Given the description of an element on the screen output the (x, y) to click on. 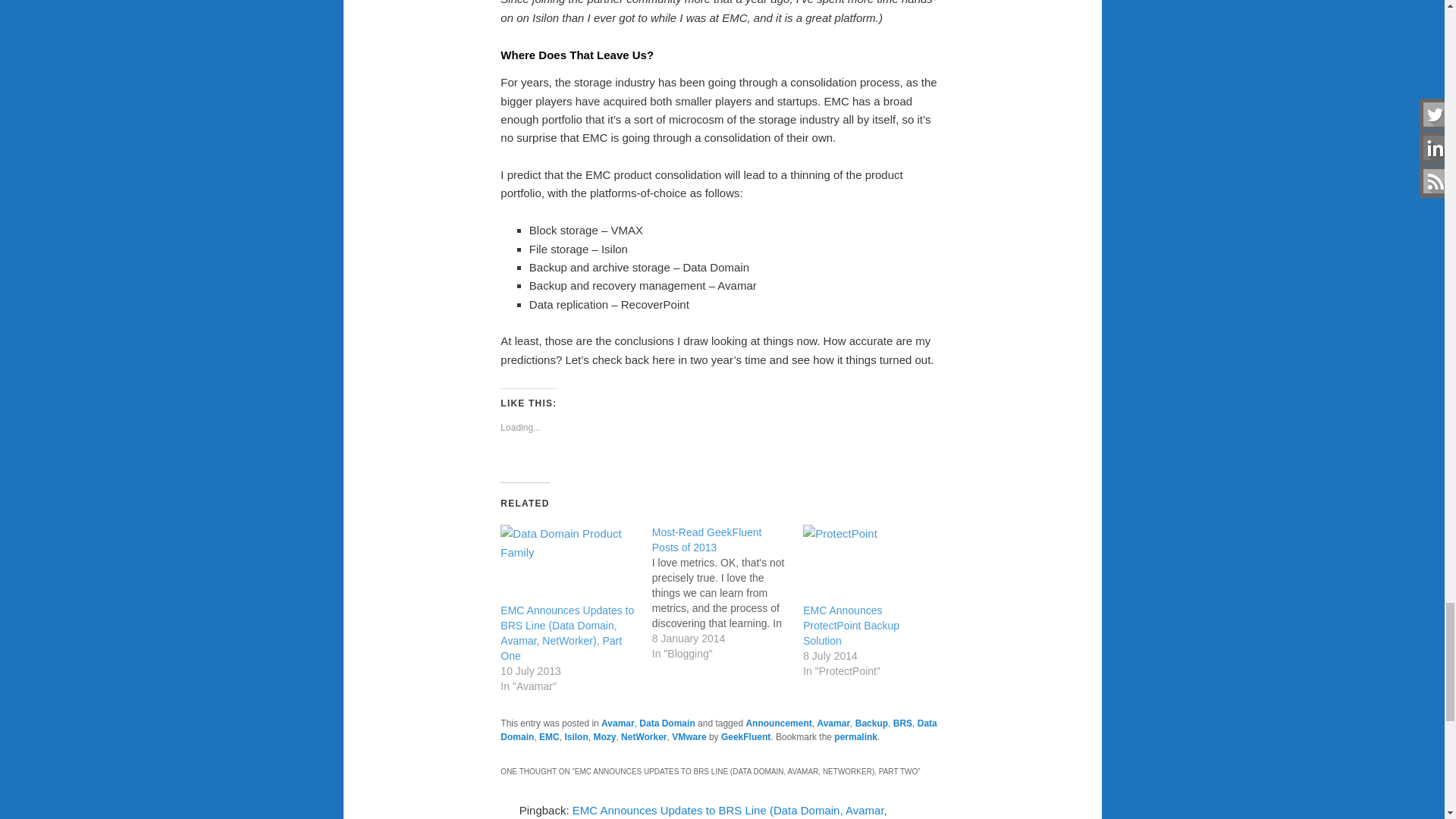
EMC Announces ProtectPoint Backup Solution (871, 563)
EMC Announces ProtectPoint Backup Solution (851, 625)
Most-Read GeekFluent Posts of 2013 (727, 592)
Most-Read GeekFluent Posts of 2013 (706, 539)
